Given the description of an element on the screen output the (x, y) to click on. 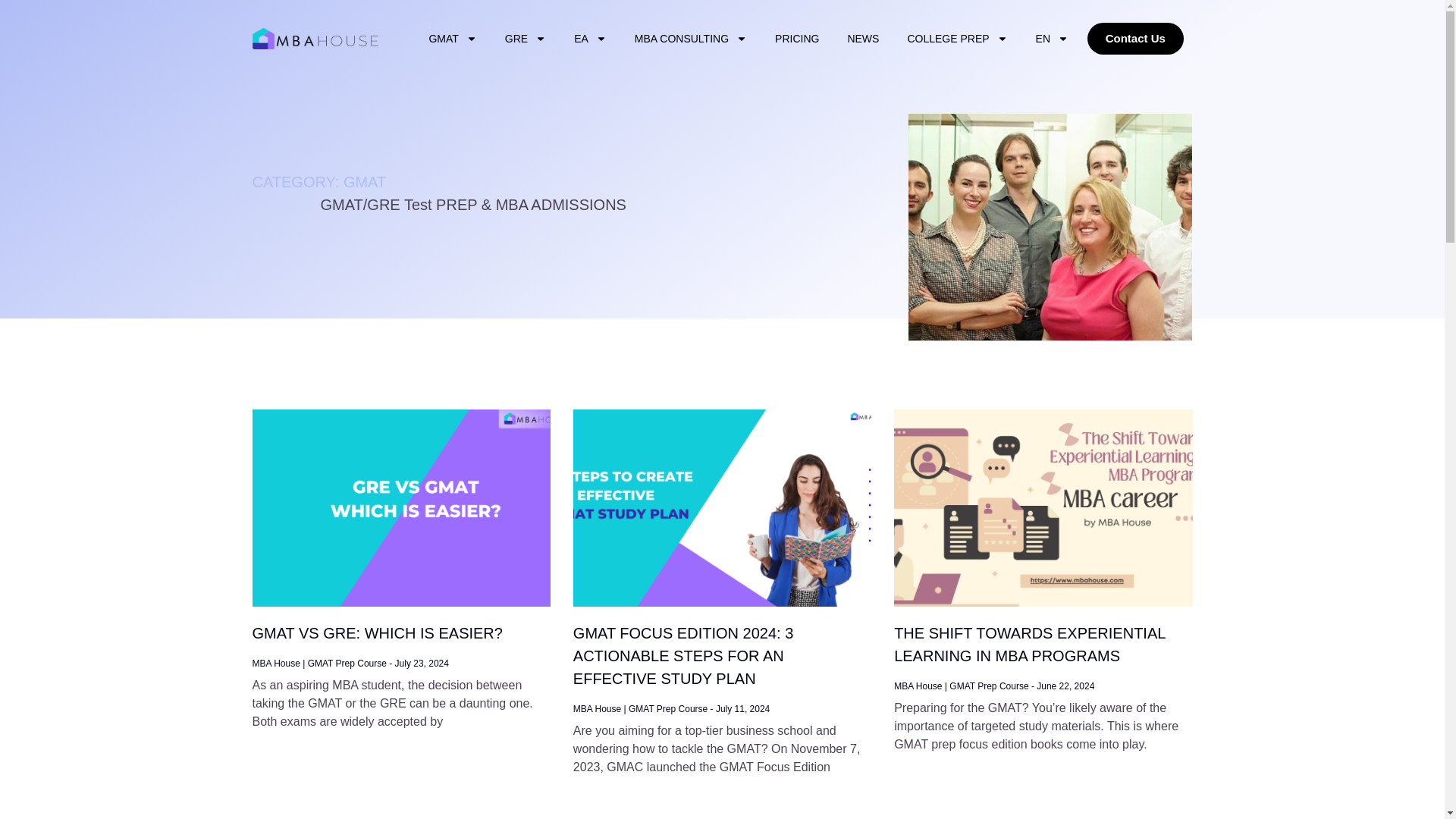
PRICING (796, 38)
GMAT (452, 38)
English (1051, 38)
GRE (525, 38)
EA (590, 38)
COLLEGE PREP (957, 38)
MBA CONSULTING (690, 38)
EN (1051, 38)
NEWS (863, 38)
